Given the description of an element on the screen output the (x, y) to click on. 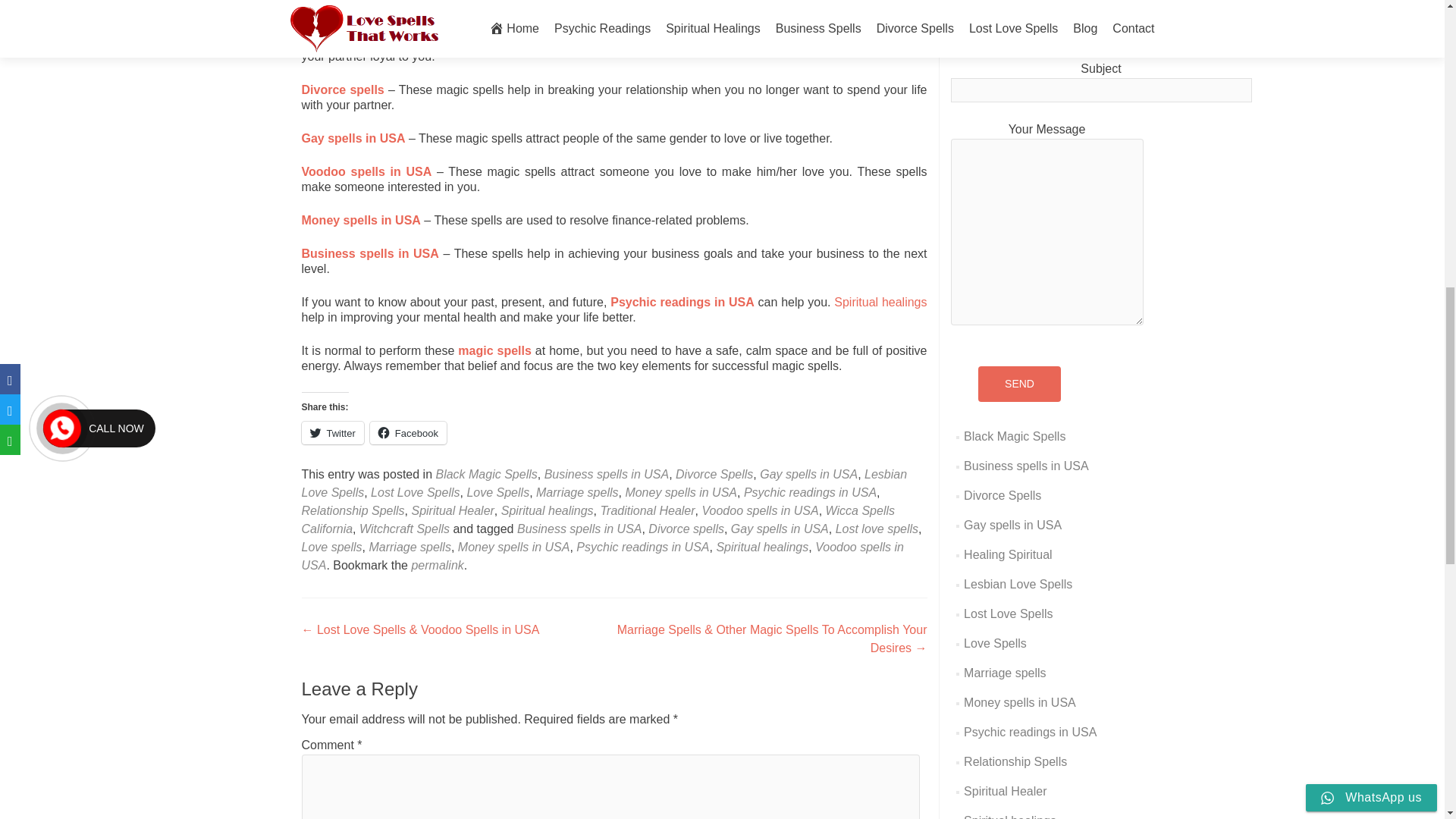
Voodoo spells in USA (366, 171)
Send (1019, 384)
Click to share on Facebook (407, 432)
Spiritual healings (880, 301)
magic spells (494, 350)
Business spells in USA (370, 253)
Psychic readings in USA (682, 301)
Gay spells in USA (353, 137)
Facebook (407, 432)
Money spells in USA (360, 219)
Lesbian Love Spells (604, 482)
Click to share on Twitter (332, 432)
Divorce Spells (713, 473)
marriage (732, 41)
Black Magic Spells (486, 473)
